Given the description of an element on the screen output the (x, y) to click on. 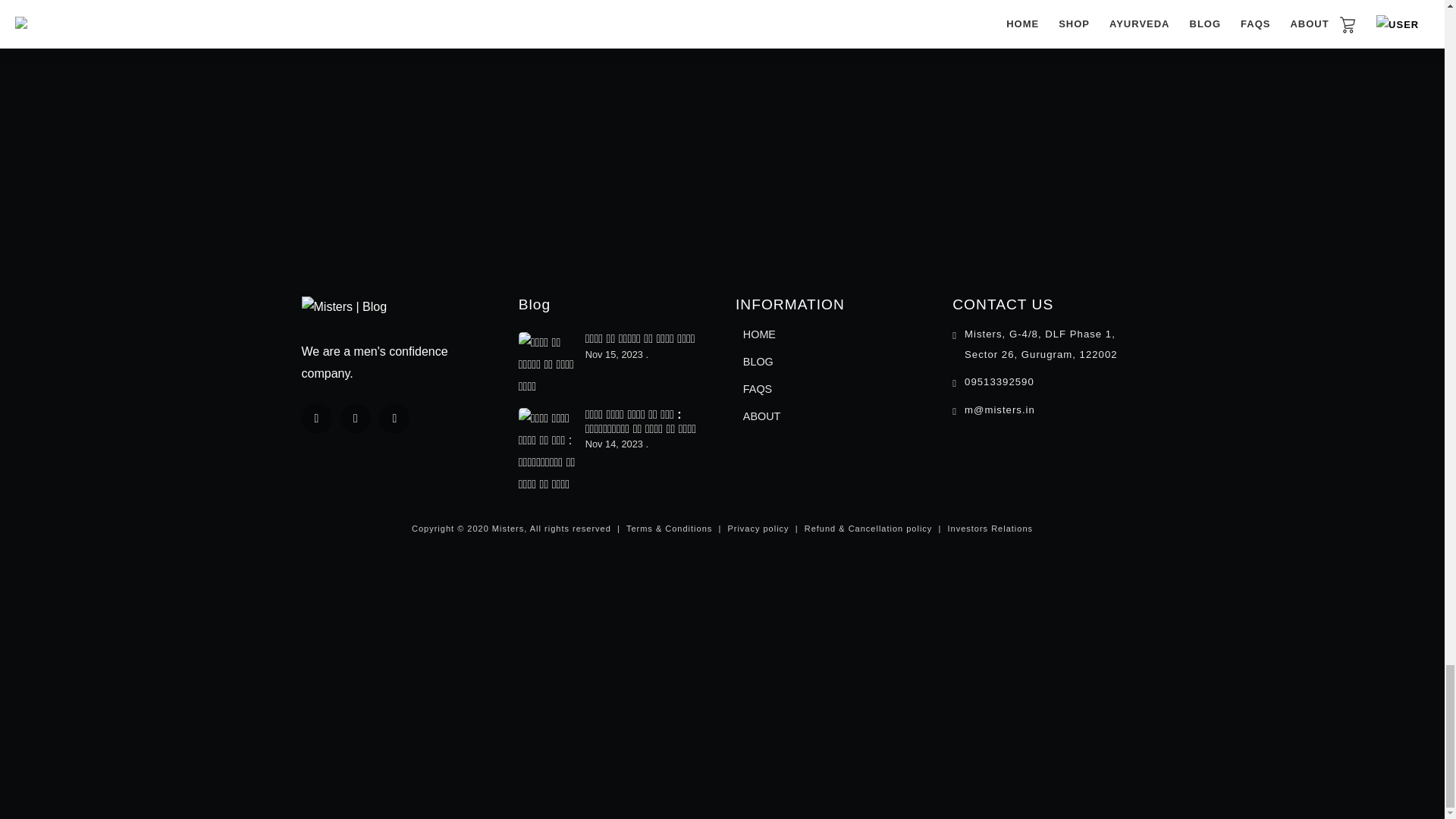
instagram (393, 418)
ABOUT (761, 415)
BLOG (758, 361)
HOME (758, 333)
FAQS (757, 388)
linkedin (355, 418)
Blog (534, 304)
facebook (316, 418)
